Given the description of an element on the screen output the (x, y) to click on. 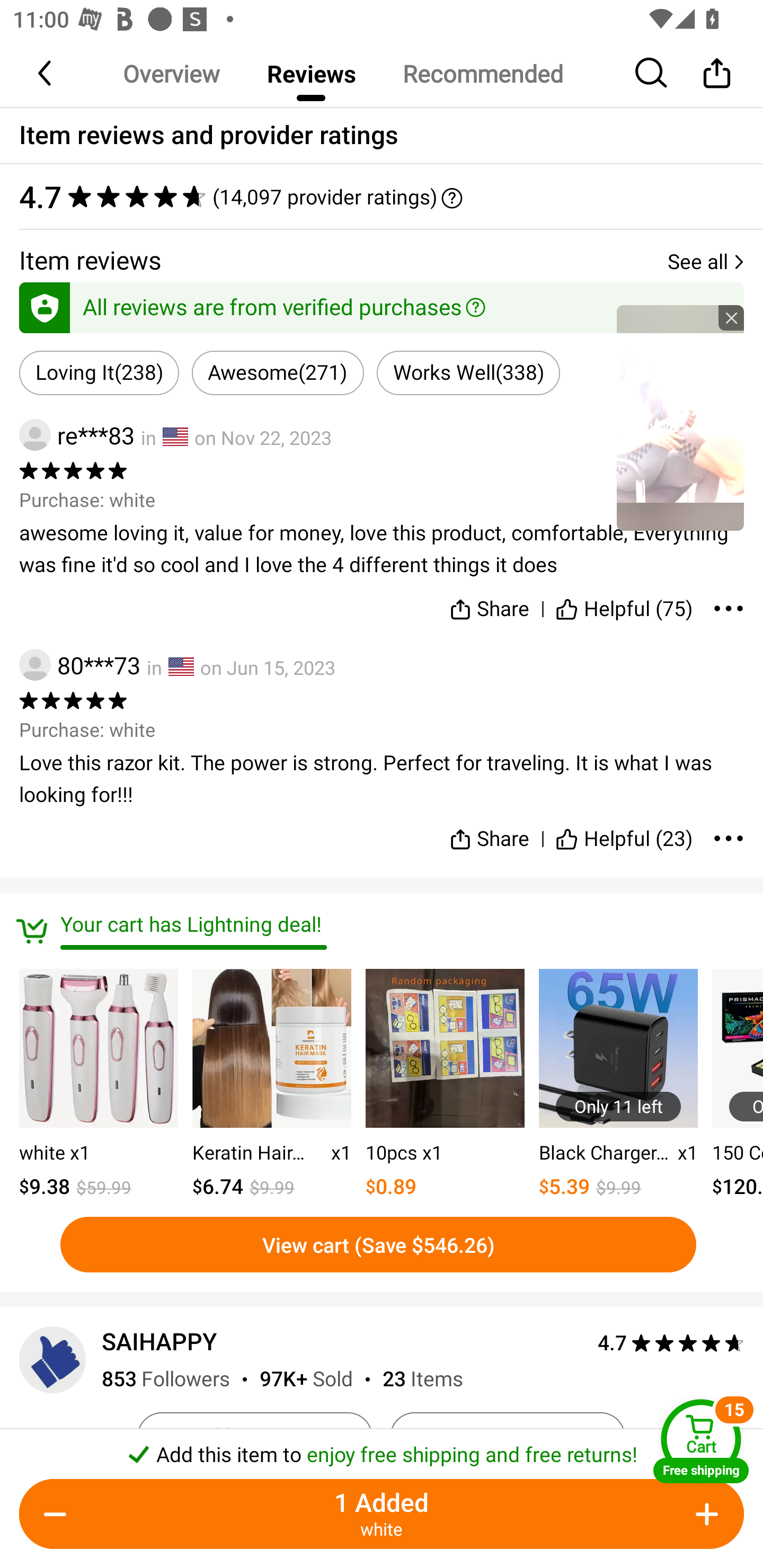
Overview (171, 72)
Reviews (311, 72)
Recommended (482, 72)
Back (46, 72)
Share (716, 72)
4.7 ‪(14,097 provider ratings) (381, 196)
All reviews are from verified purchases  (381, 303)
tronplayer_view (680, 417)
Loving It(238) (99, 373)
Awesome(271) (277, 373)
Works Well(338) (468, 373)
re***83 (76, 434)
  Share (489, 605)
  Helpful (75) (624, 605)
80***73 (79, 664)
  Share (489, 830)
  Helpful (23) (624, 830)
white  x1 $9.38 $59.99 (98, 1085)
Keratin Hair Mask 8.45oz  x1 $6.74 $9.99 (271, 1085)
10pcs  x1 $0.89 (444, 1085)
View cart (Save $546.26) (377, 1243)
Cart Free shipping Cart (701, 1440)
Decrease Quantity Button (59, 1513)
Add Quantity button (703, 1513)
